Given the description of an element on the screen output the (x, y) to click on. 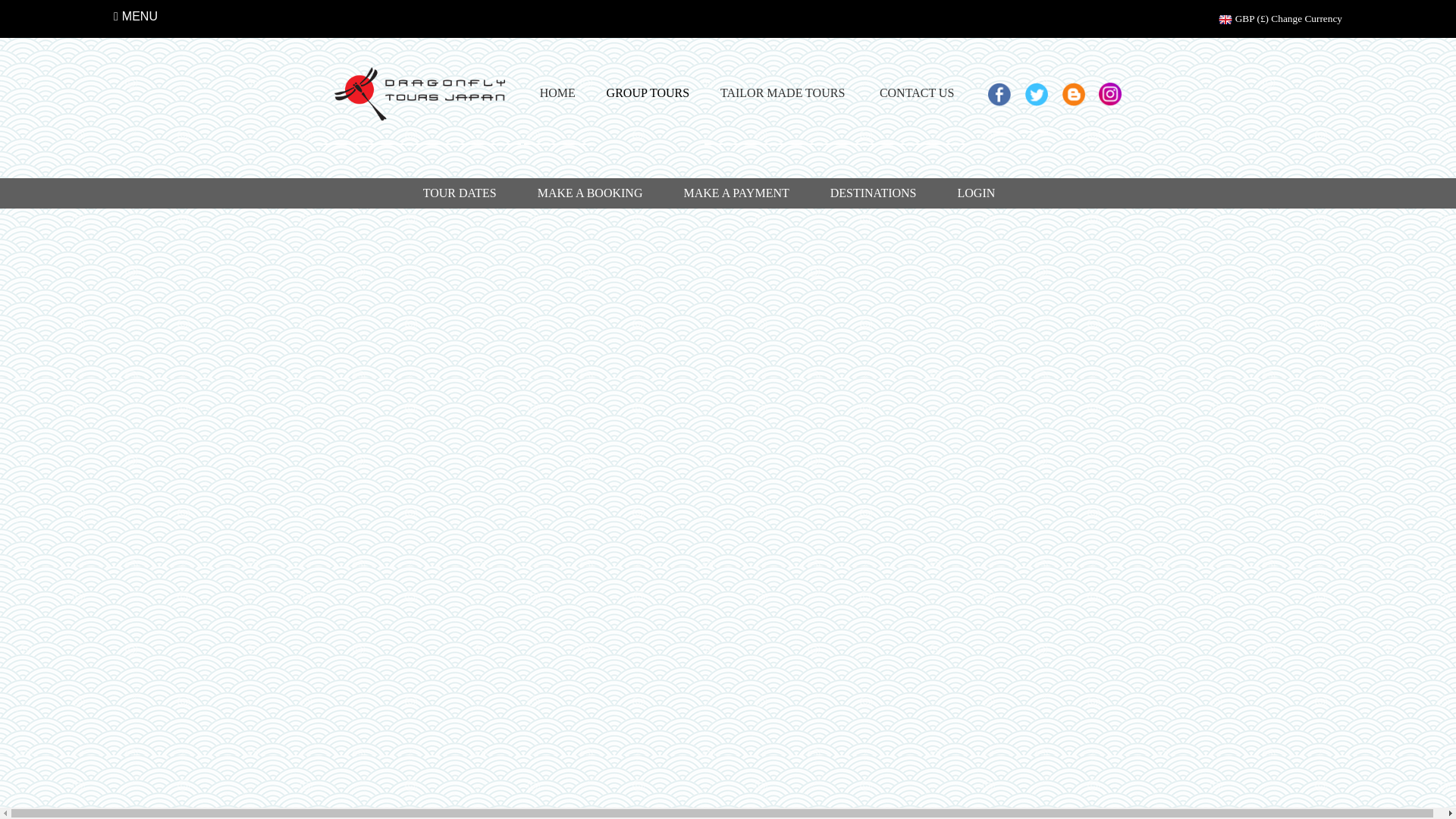
LOGIN (976, 192)
dragonfly tours japan (419, 93)
TAILOR MADE TOURS (782, 93)
MENU (135, 16)
DESTINATIONS (873, 192)
MAKE A PAYMENT (735, 192)
MAKE A BOOKING (590, 192)
GROUP TOURS (647, 93)
TOUR DATES (459, 192)
CONTACT US (916, 93)
